Given the description of an element on the screen output the (x, y) to click on. 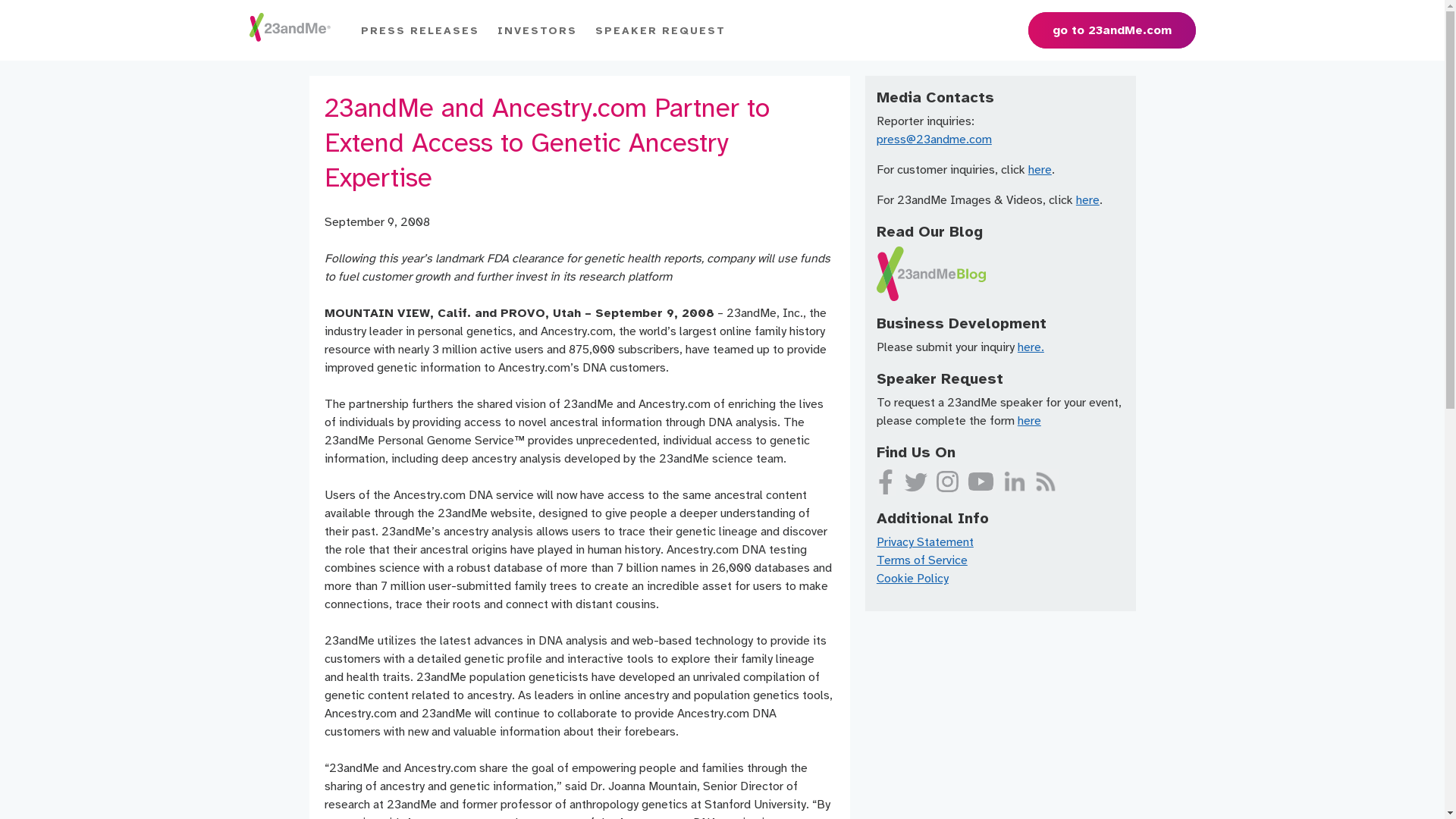
here. Element type: text (1030, 346)
here Element type: text (1029, 420)
PRESS RELEASES Element type: text (419, 30)
Cookie Policy Element type: text (912, 578)
here Element type: text (1039, 169)
Terms of Service Element type: text (921, 559)
INVESTORS Element type: text (537, 30)
here Element type: text (1087, 199)
SPEAKER REQUEST Element type: text (659, 30)
press@23andme.com Element type: text (933, 139)
Privacy Statement Element type: text (924, 541)
go to 23andMe.com Element type: text (1111, 30)
